Given the description of an element on the screen output the (x, y) to click on. 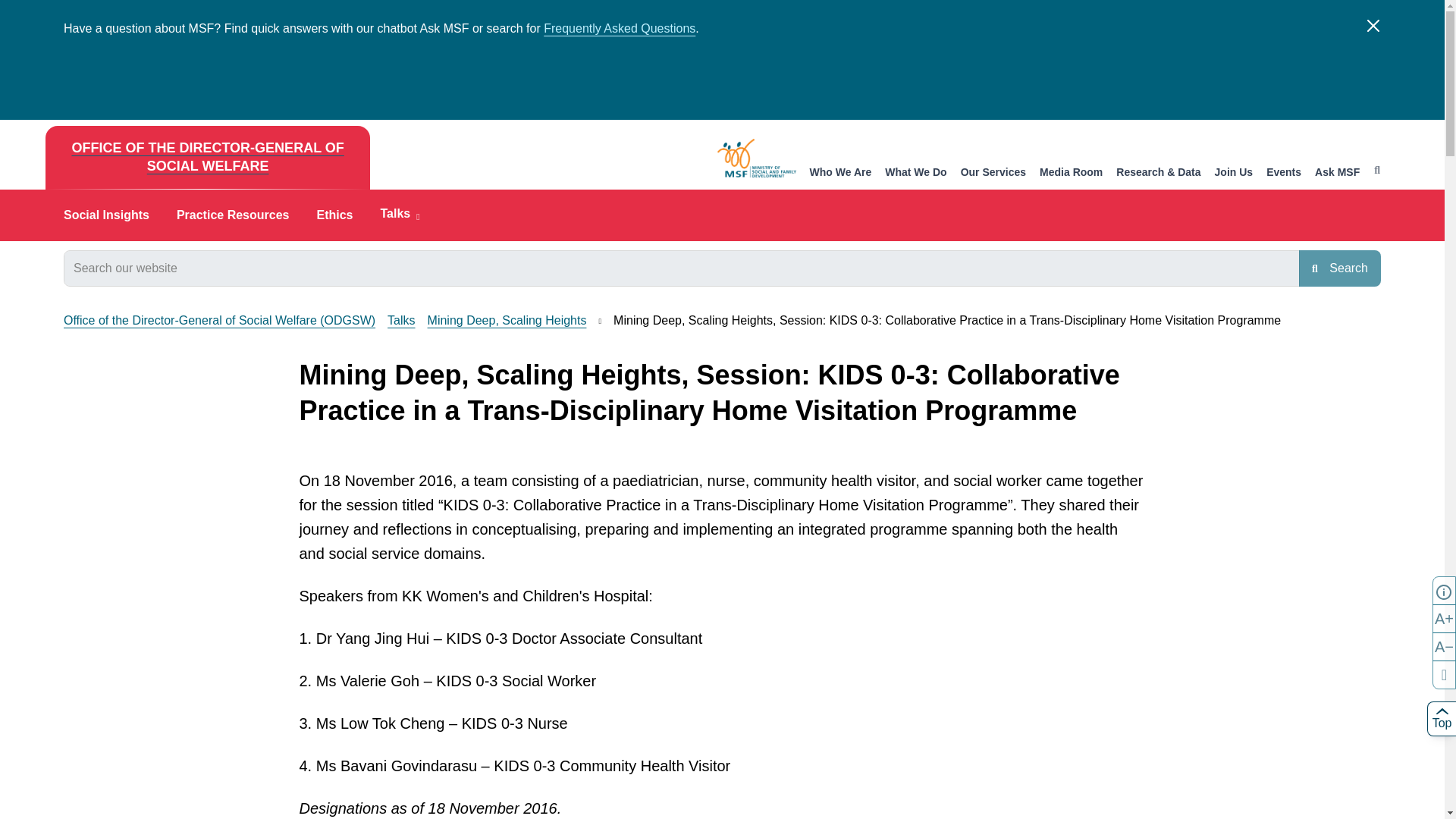
Ask MSF (1336, 172)
Who We Are (840, 172)
What We Do (915, 172)
Our Services (993, 172)
OFFICE OF THE DIRECTOR-GENERAL OF SOCIAL WELFARE (207, 157)
Media Room (1070, 172)
MSF logo (756, 157)
Join Us (1233, 172)
Events (1283, 172)
Frequently Asked Questions (619, 28)
